Given the description of an element on the screen output the (x, y) to click on. 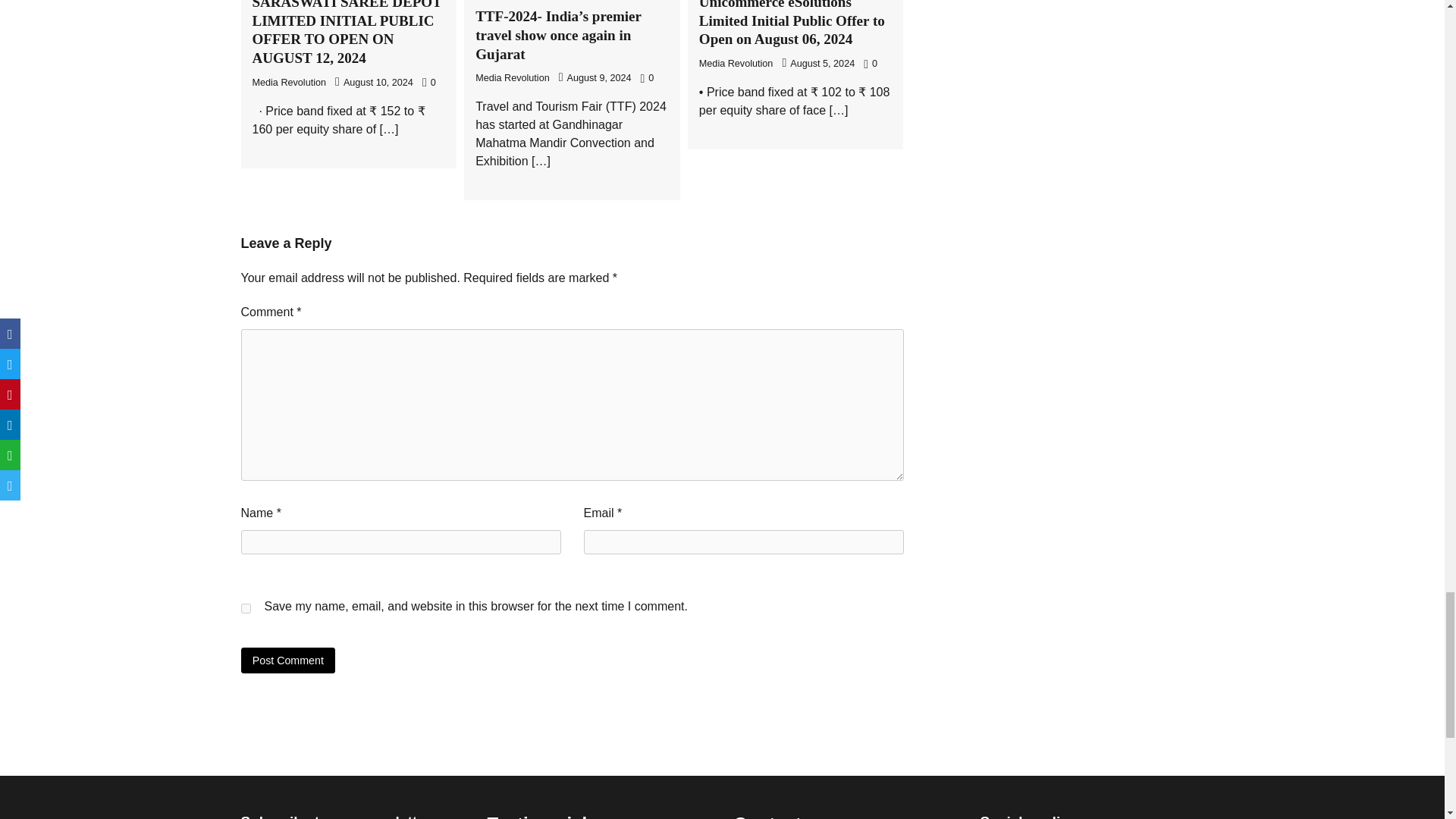
Post Comment (288, 659)
Media Revolution (513, 77)
Media Revolution (288, 81)
yes (245, 608)
Media Revolution (735, 63)
